Given the description of an element on the screen output the (x, y) to click on. 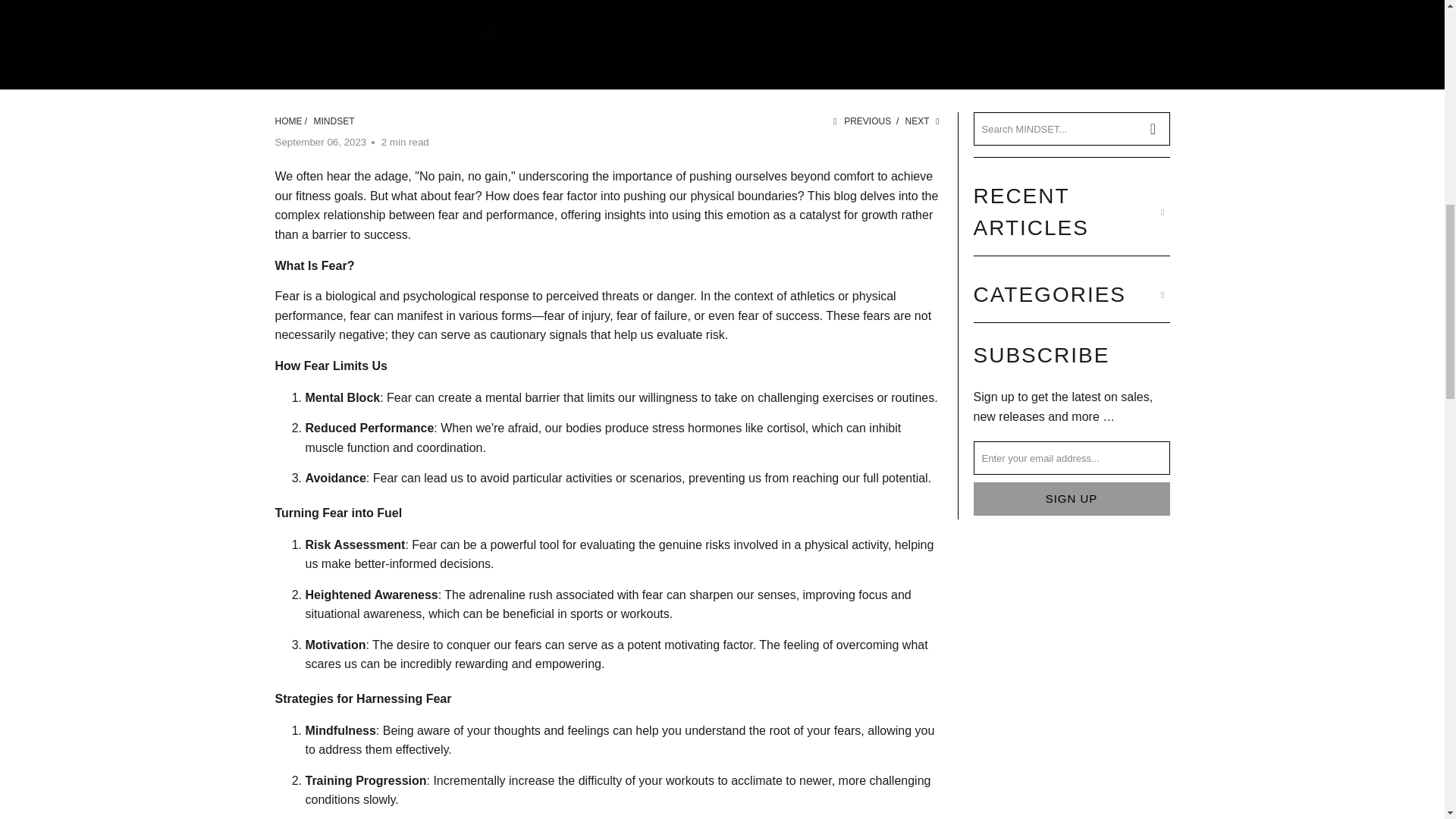
MINDSET (334, 121)
Brad Becca (288, 121)
Sign Up (1072, 498)
